Given the description of an element on the screen output the (x, y) to click on. 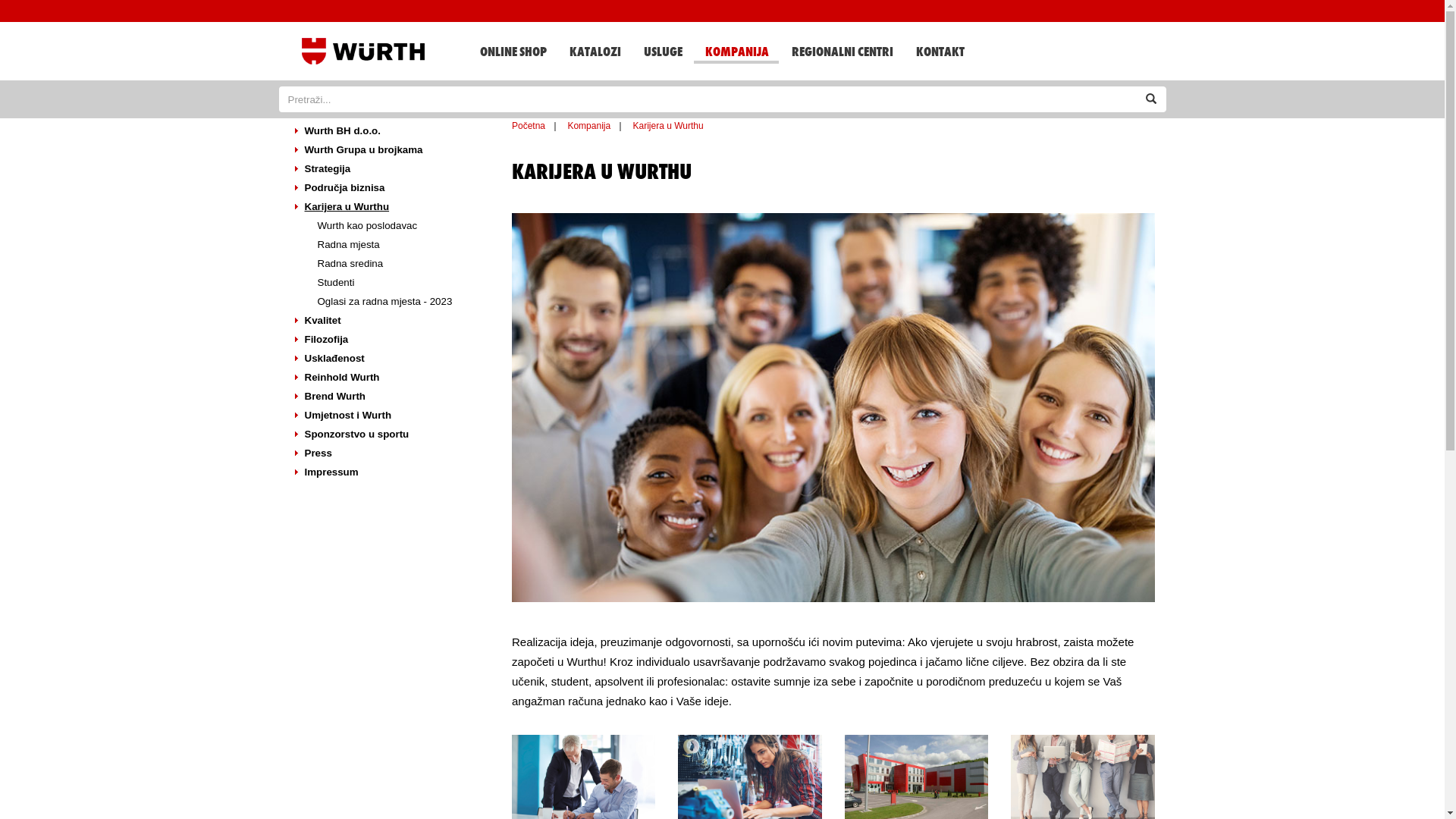
Umjetnost i Wurth Element type: text (389, 415)
USLUGE Element type: text (662, 50)
Filozofija Element type: text (389, 339)
Karijera u Wurthu Element type: text (668, 125)
Kompanija Element type: text (588, 125)
ONLINE SHOP Element type: text (512, 50)
Home page icon Element type: text (362, 50)
REGIONALNI CENTRI Element type: text (840, 50)
Impressum Element type: text (389, 472)
Brend Wurth Element type: text (389, 396)
Karijera u Wurthu Element type: text (389, 206)
KONTAKT Element type: text (938, 50)
KOMPANIJA Element type: text (735, 47)
Wurth kao poslodavac Element type: text (396, 225)
Karijera Element type: hover (832, 407)
Sponzorstvo u sportu Element type: text (389, 434)
Radna sredina Element type: text (396, 263)
Oglasi za radna mjesta - 2023 Element type: text (396, 301)
Reinhold Wurth Element type: text (389, 377)
Kvalitet Element type: text (389, 320)
Wurth BH d.o.o. Element type: text (389, 131)
Radna mjesta Element type: text (396, 244)
Studenti Element type: text (396, 282)
KATALOZI Element type: text (594, 50)
Wurth Grupa u brojkama Element type: text (389, 150)
Press Element type: text (389, 453)
Strategija Element type: text (389, 169)
